Given the description of an element on the screen output the (x, y) to click on. 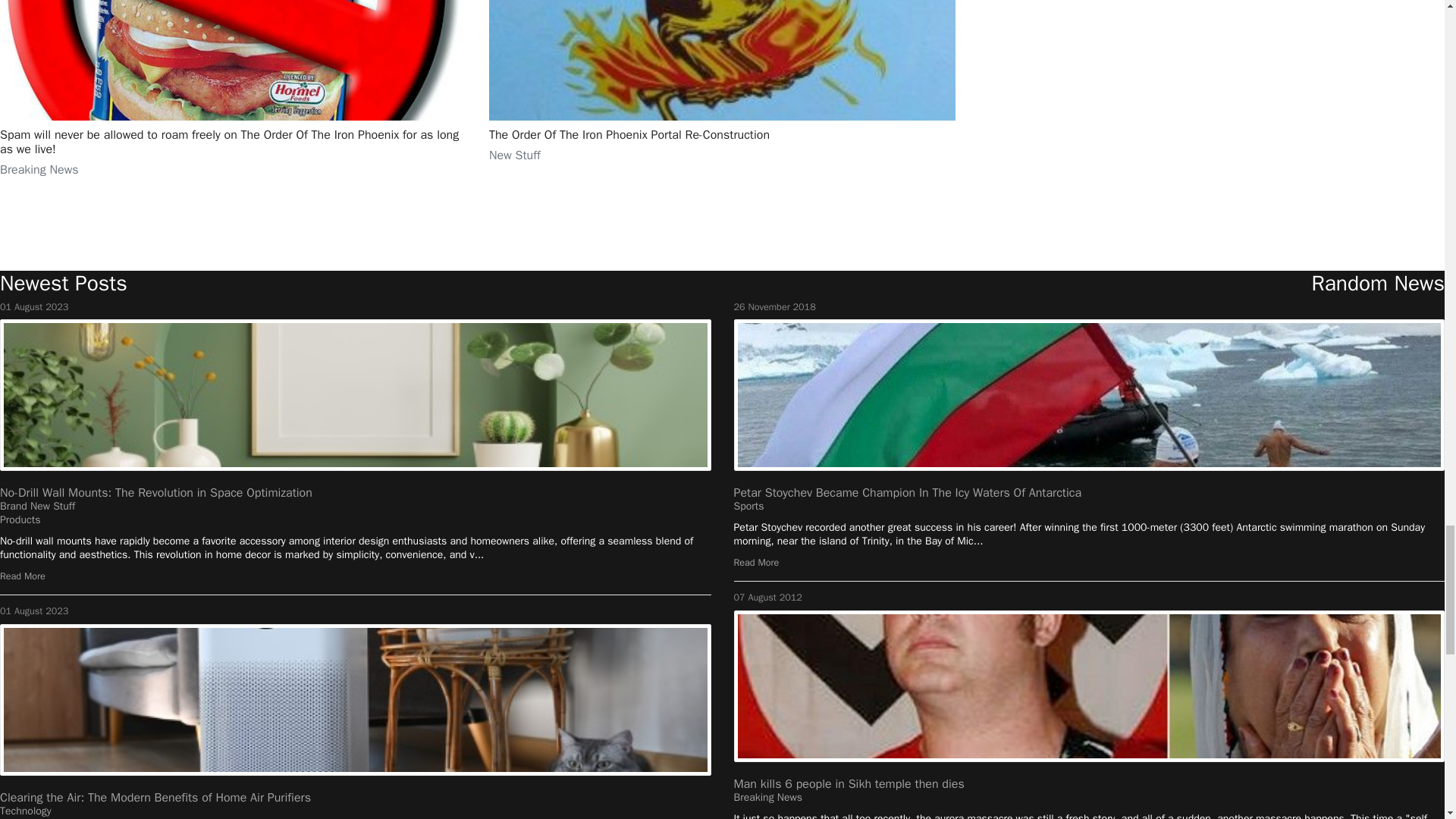
Clearing the Air: The Modern Benefits of Home Air Purifiers (155, 797)
Hanging (355, 394)
Man kills 6 people in Sikh temple then dies (848, 783)
No-Drill Wall Mounts: The Revolution in Space Optimization (156, 492)
